Given the description of an element on the screen output the (x, y) to click on. 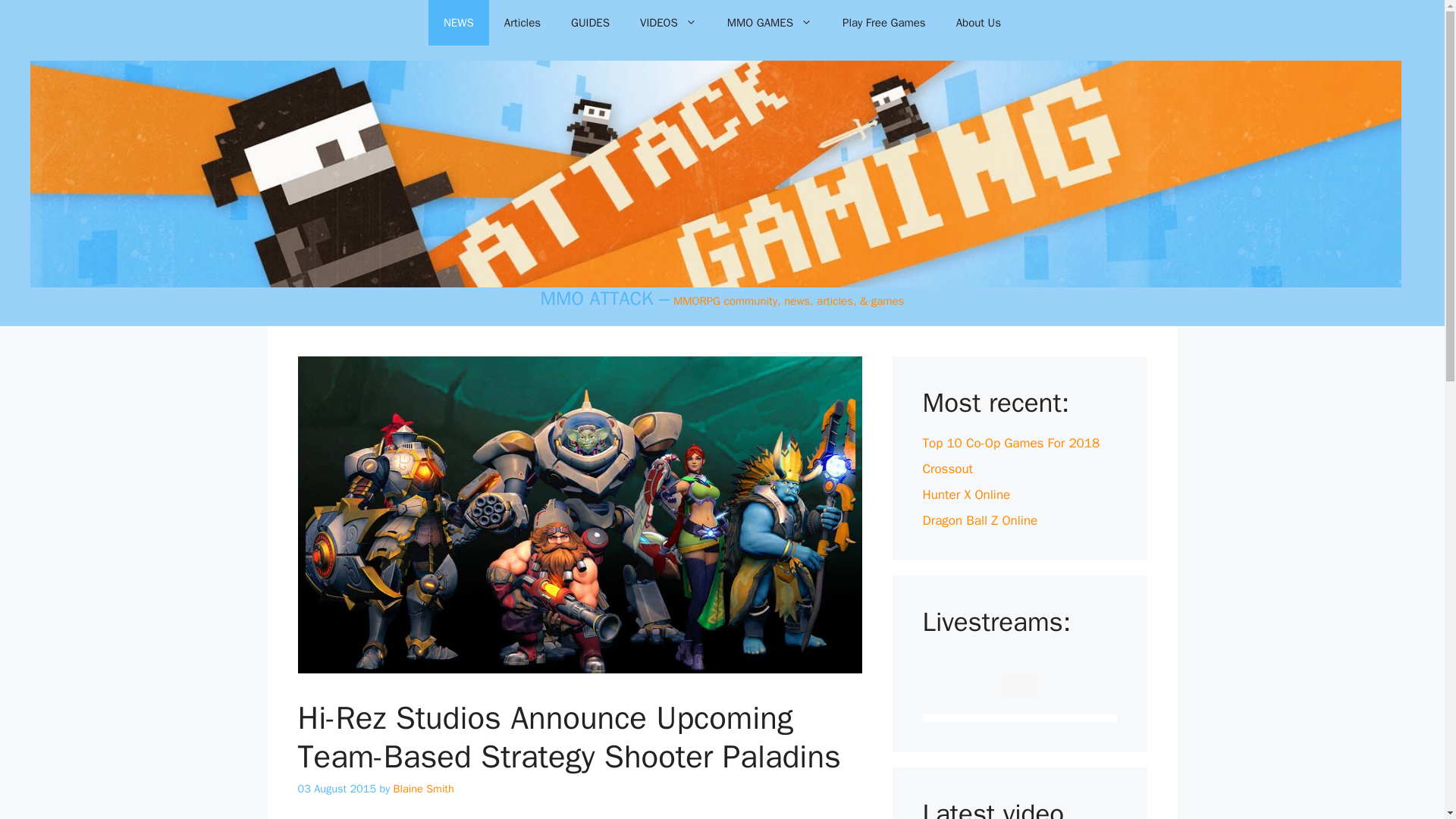
Blaine Smith (423, 788)
VIDEOS (667, 22)
Play Free Games (883, 22)
GUIDES (590, 22)
View all posts by Blaine Smith (423, 788)
About Us (978, 22)
MMO ATTACK (596, 298)
MMO GAMES (769, 22)
Articles (522, 22)
NEWS (458, 22)
